Given the description of an element on the screen output the (x, y) to click on. 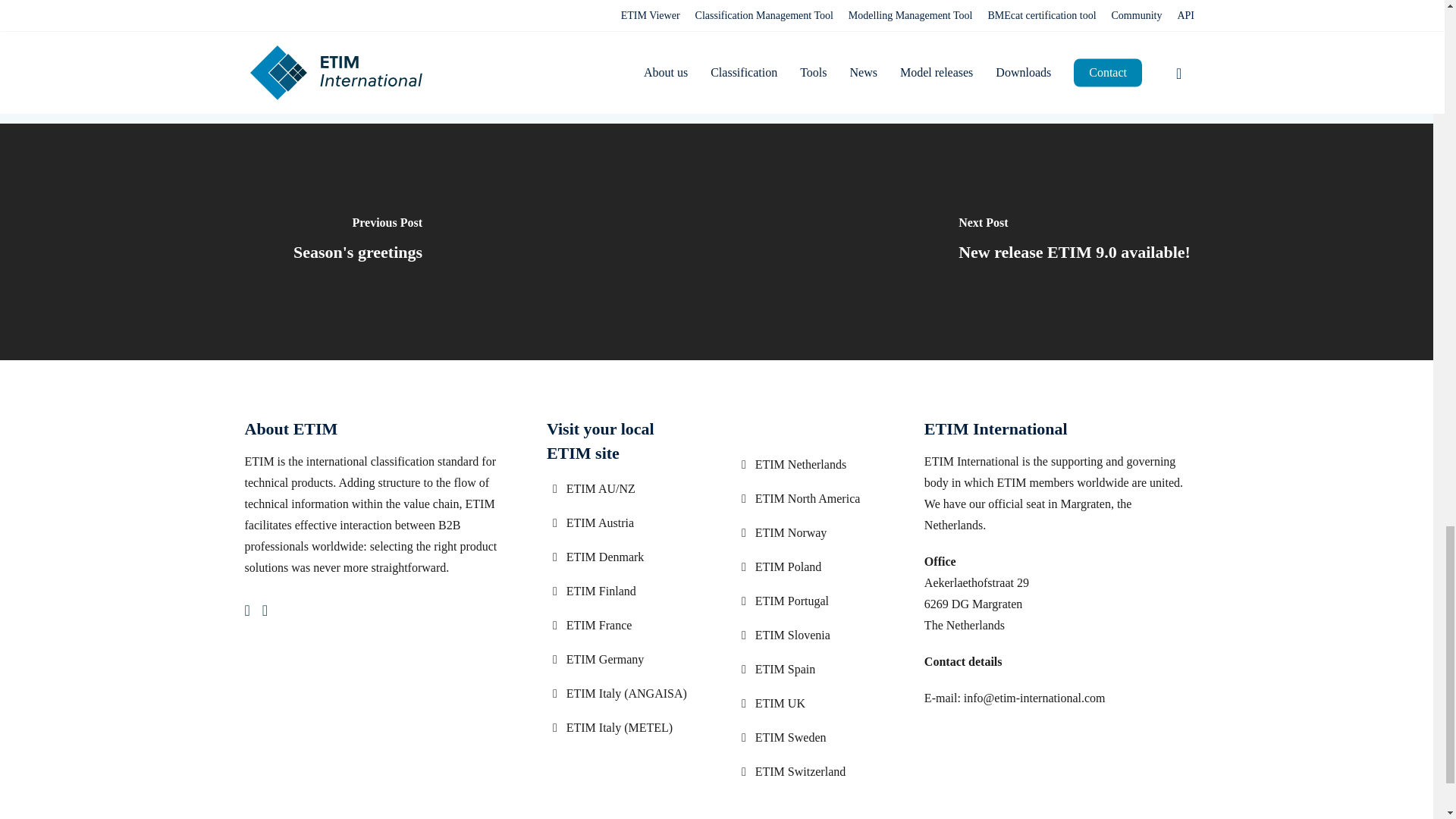
ETIM France (622, 625)
ETIM Denmark (622, 557)
ETIM Germany (622, 659)
ETIM Austria (622, 522)
ETIM Finland (622, 590)
